Given the description of an element on the screen output the (x, y) to click on. 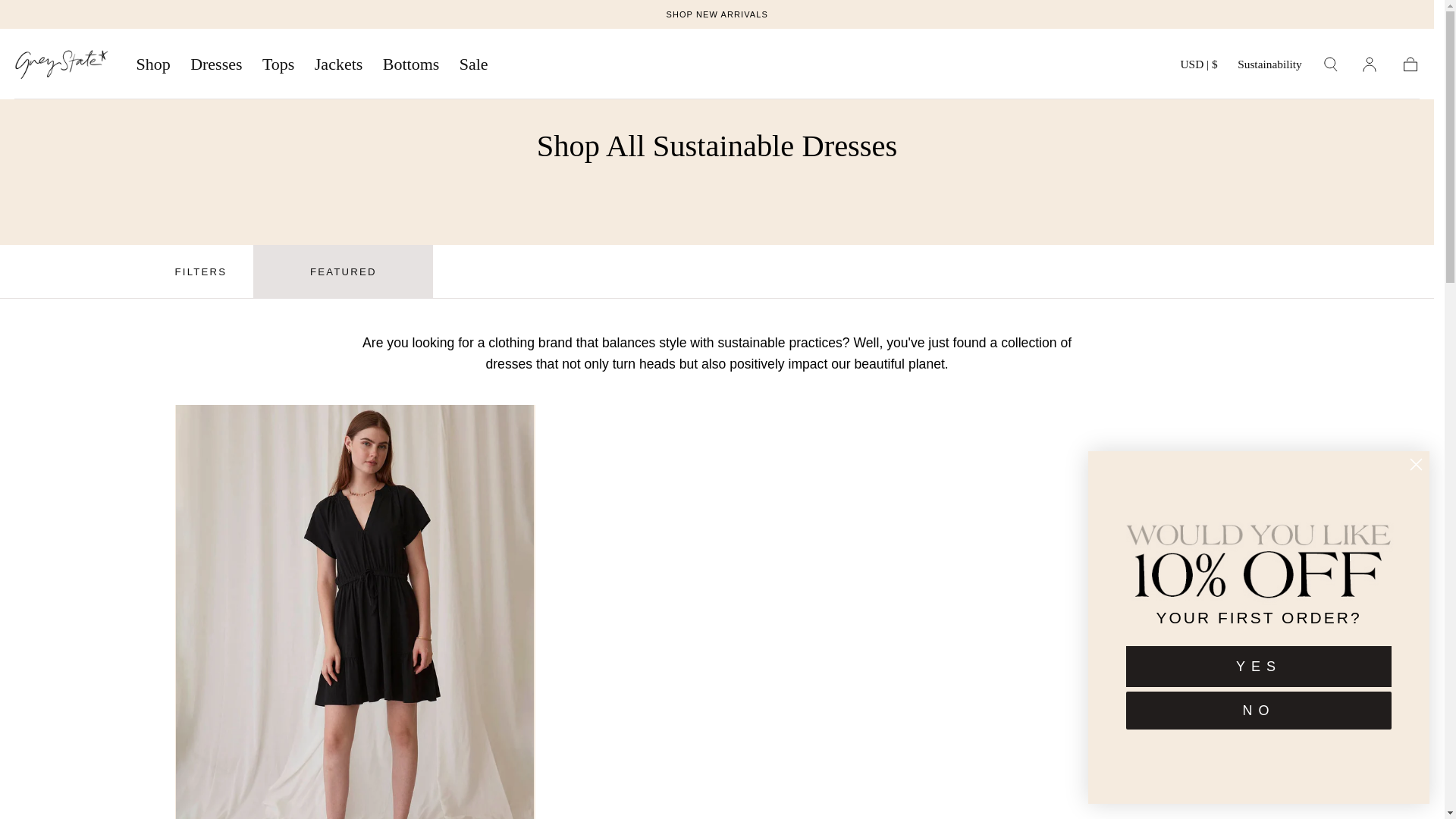
Skip to content (74, 20)
Cart (1409, 64)
Sign in (1368, 64)
SHOP NEW ARRIVALS (716, 13)
Close dialog 1 (1416, 464)
